Given the description of an element on the screen output the (x, y) to click on. 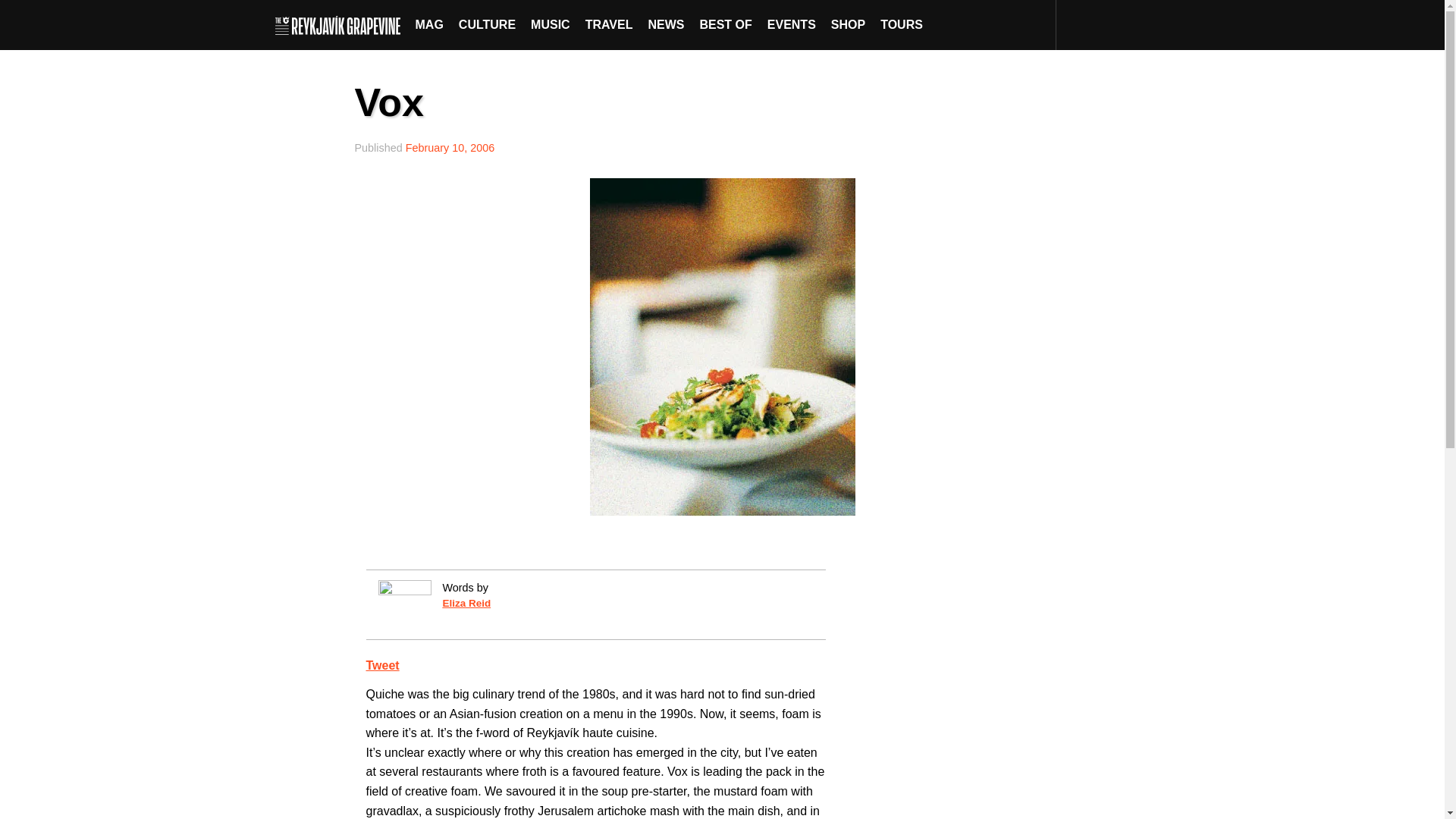
CULTURE (486, 24)
Tweet (381, 665)
TRAVEL (609, 24)
TOURS (901, 24)
Posts by Eliza Reid (466, 603)
NEWS (665, 24)
The Reykjavik Grapevine (341, 24)
Eliza Reid (466, 603)
SHOP (848, 24)
BEST OF (724, 24)
